Given the description of an element on the screen output the (x, y) to click on. 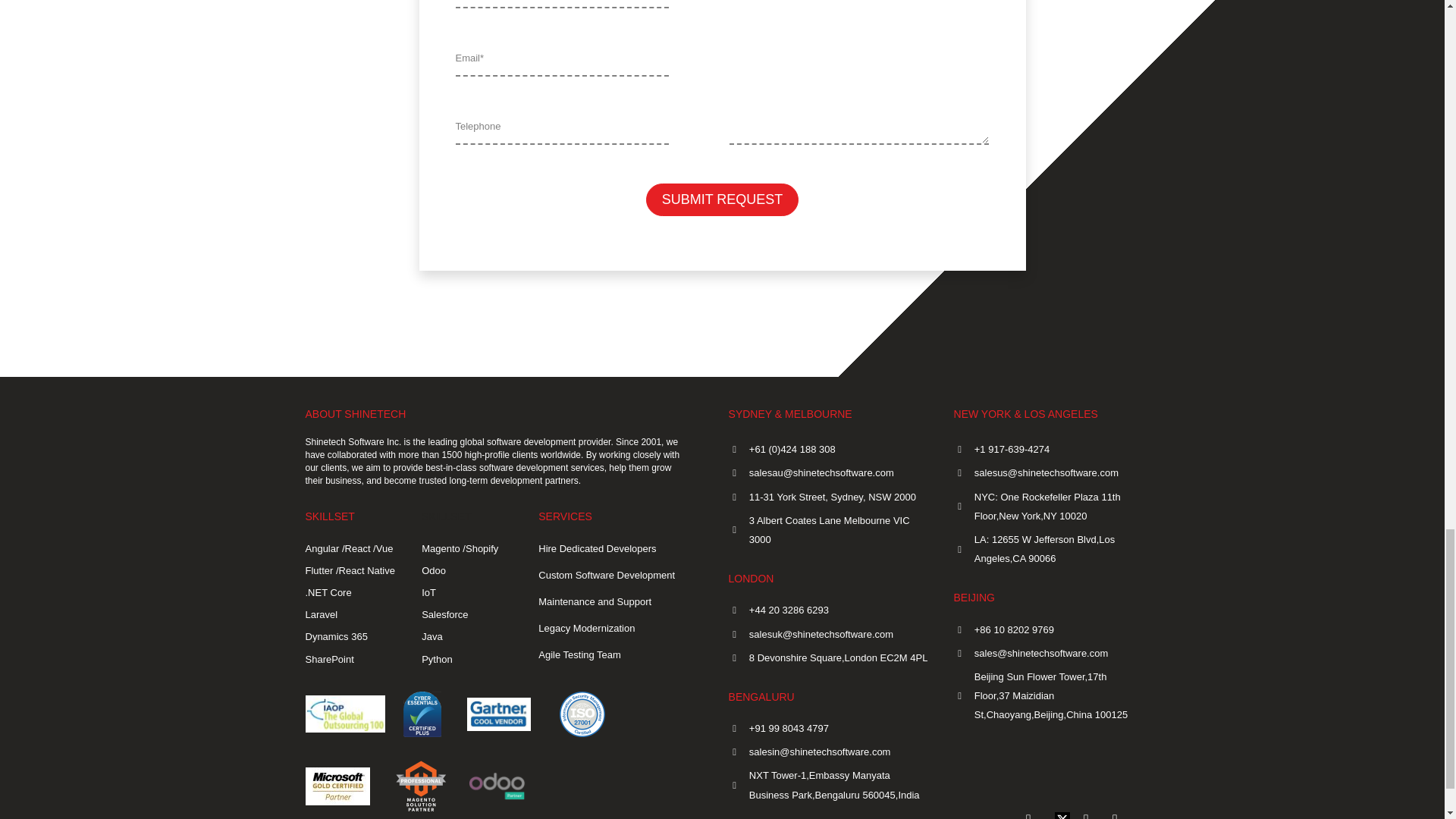
gartner tool vendor (499, 714)
Hire Dedicated Developers (613, 547)
SUBMIT REQUEST (722, 199)
odoo partner (497, 785)
Global outsourcing 100 (344, 713)
ISO27001 (582, 714)
Java (468, 636)
microsoft (336, 786)
Odoo (468, 570)
.NET Core (351, 592)
